Given the description of an element on the screen output the (x, y) to click on. 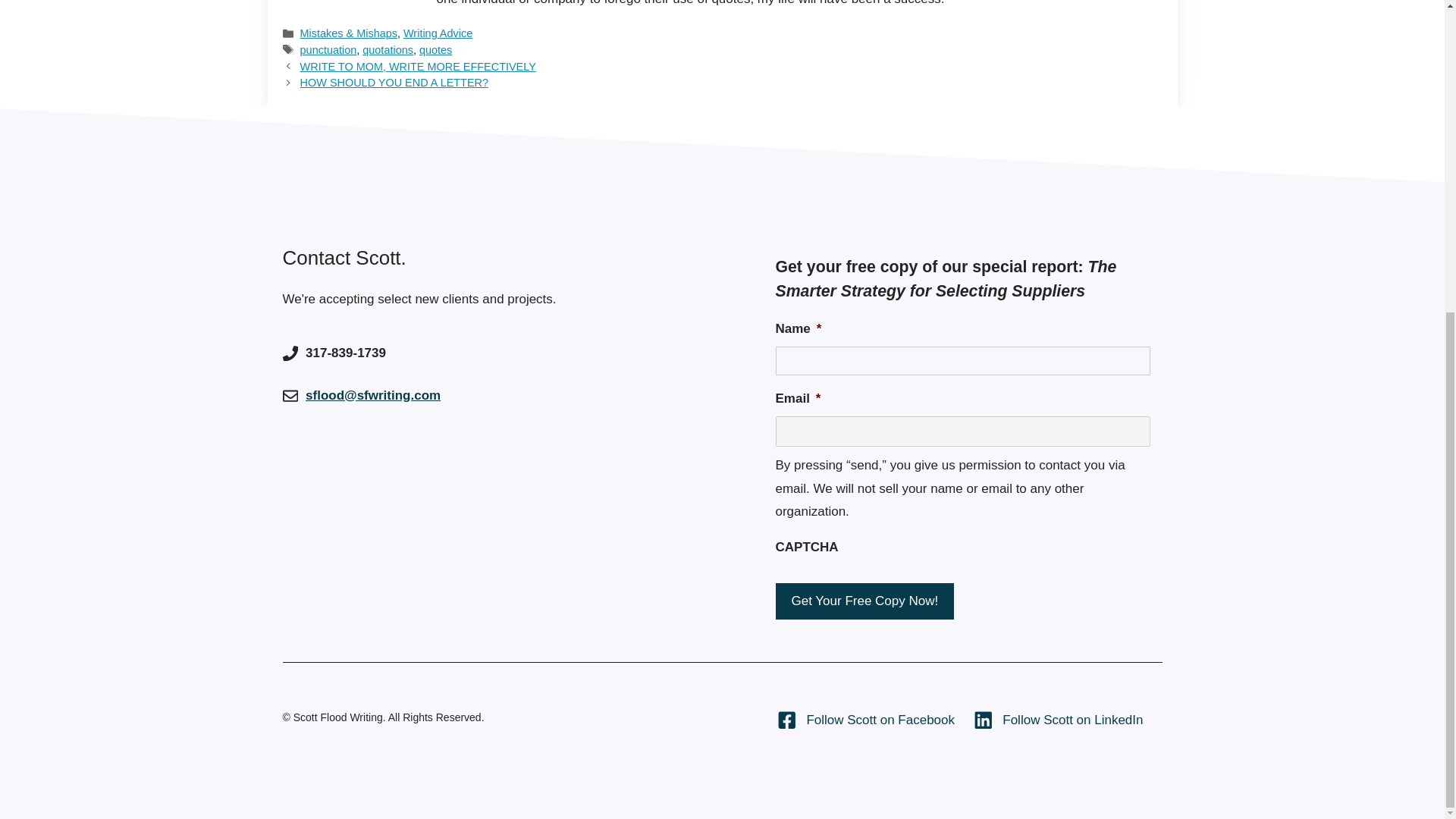
Get Your Free Copy Now! (863, 601)
quotes (435, 50)
Follow Scott on LinkedIn (1058, 720)
WRITE TO MOM, WRITE MORE EFFECTIVELY (417, 66)
Get Your Free Copy Now! (863, 601)
Follow Scott on Facebook (866, 720)
punctuation (327, 50)
Writing Advice (437, 33)
quotations (387, 50)
HOW SHOULD YOU END A LETTER? (393, 82)
